Given the description of an element on the screen output the (x, y) to click on. 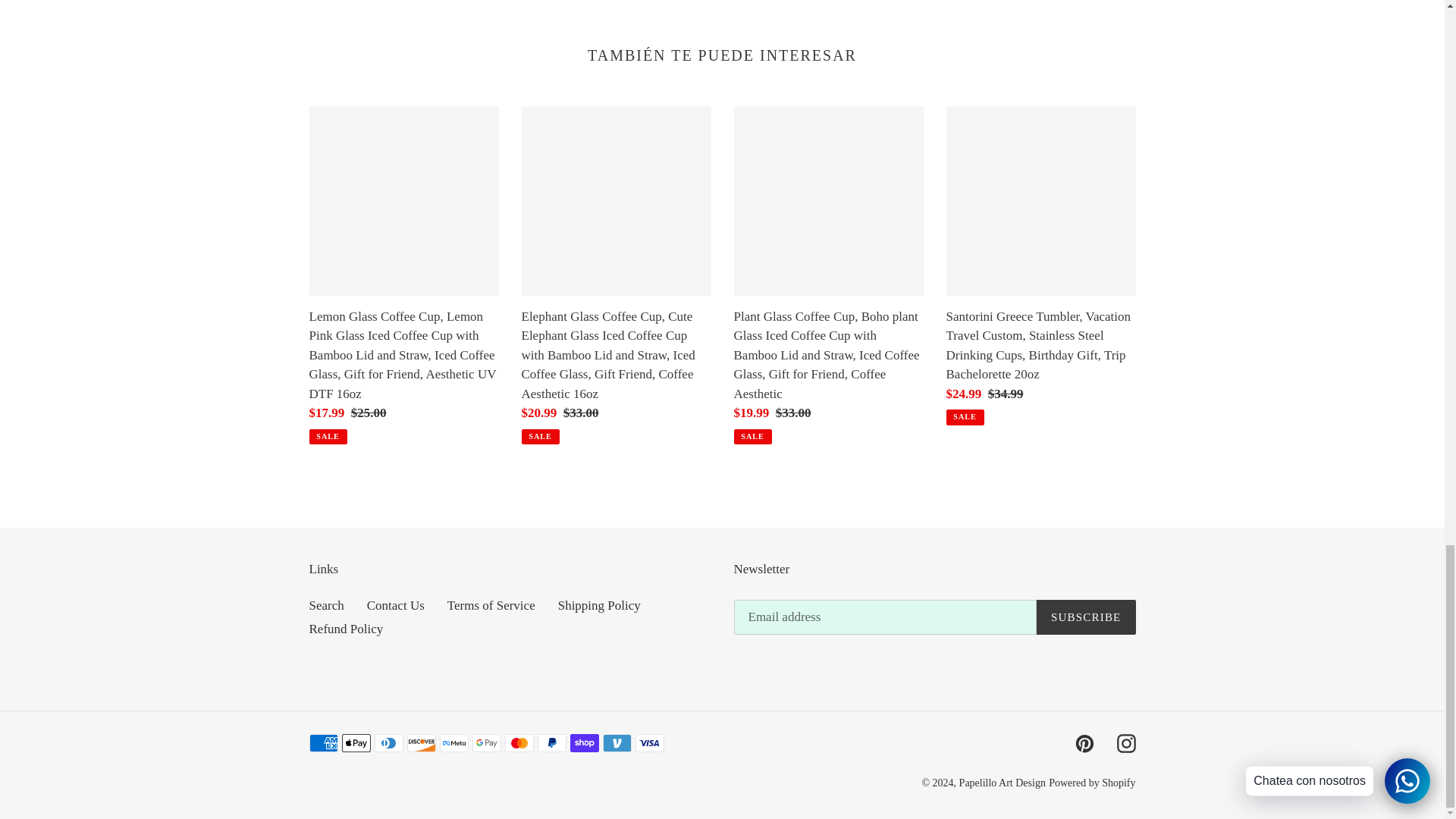
Search (325, 605)
Instagram (1125, 743)
Shipping Policy (598, 605)
Refund Policy (346, 628)
Powered by Shopify (1091, 782)
SUBSCRIBE (1085, 616)
Contact Us (395, 605)
Papelillo Art Design (1002, 782)
Terms of Service (490, 605)
Pinterest (1084, 743)
